Given the description of an element on the screen output the (x, y) to click on. 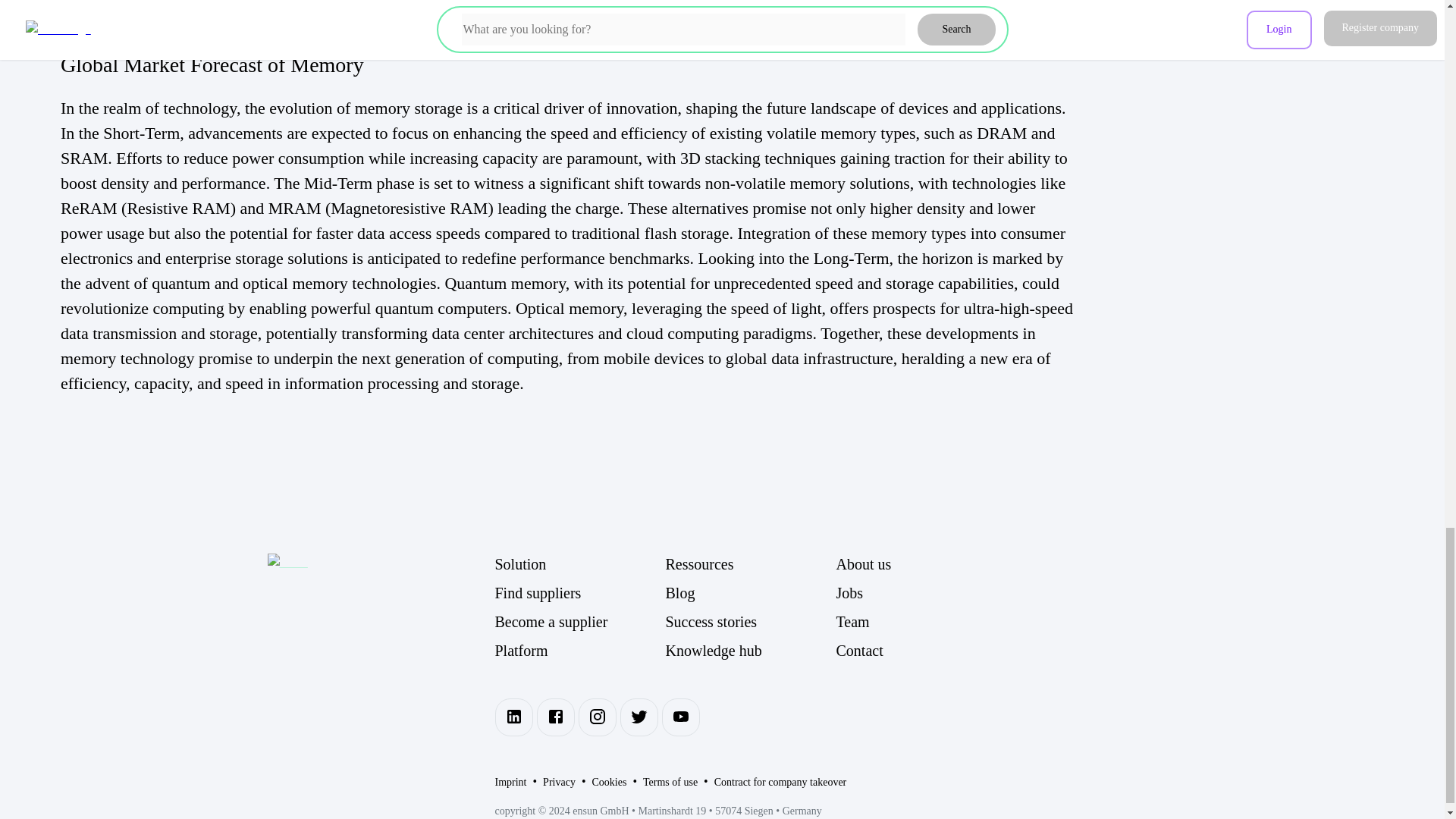
Terms of use (670, 781)
Knowledge hub (750, 650)
Contract for company takeover (780, 781)
Platform (580, 650)
Success stories (750, 621)
Become a supplier (580, 621)
Imprint (510, 781)
Jobs (920, 592)
Privacy (559, 781)
Find suppliers (580, 592)
